Given the description of an element on the screen output the (x, y) to click on. 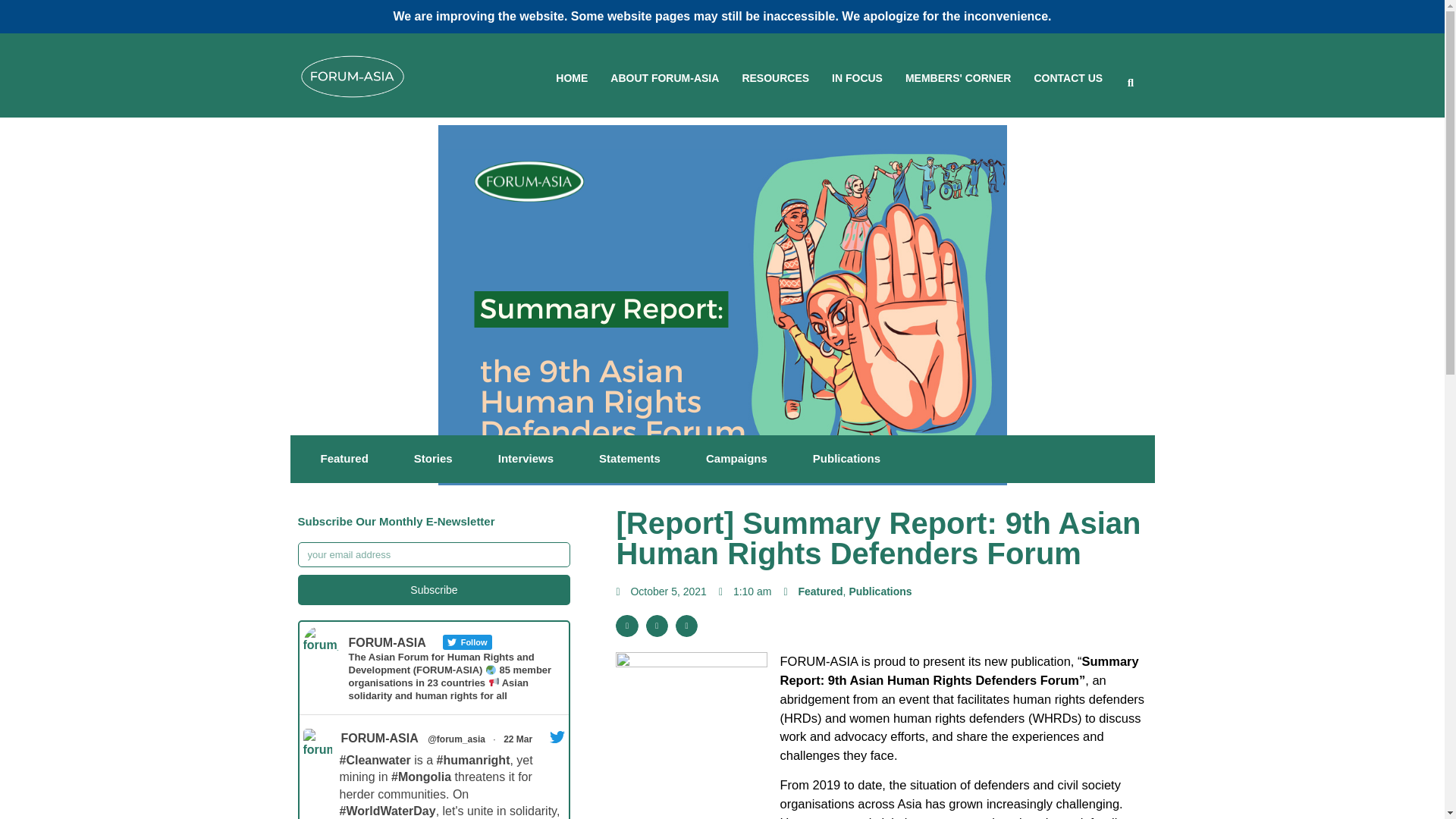
IN FOCUS (856, 78)
MEMBERS' CORNER (957, 78)
RESOURCES (774, 78)
CONTACT US (1067, 78)
HOME (571, 78)
ABOUT FORUM-ASIA (664, 78)
